Given the description of an element on the screen output the (x, y) to click on. 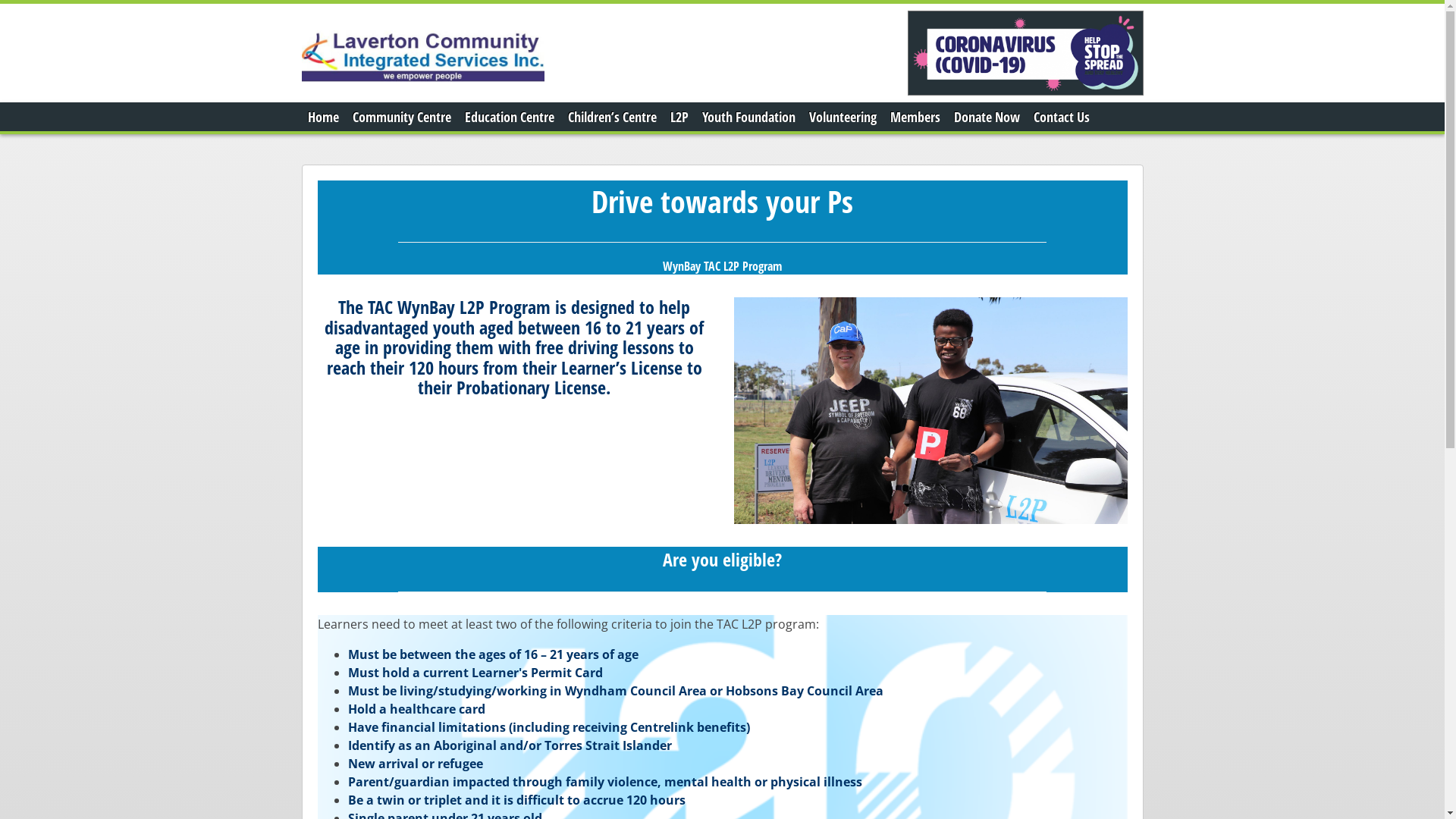
Youth Foundation Element type: text (748, 116)
Contact Us Element type: text (1060, 116)
Donate Now Element type: text (986, 116)
WynBay TAC L2P Program Element type: text (721, 265)
Home Element type: text (323, 116)
Members Element type: text (915, 116)
Education Centre Element type: text (508, 116)
Volunteering Element type: text (841, 116)
Community Centre Element type: text (400, 116)
L2P Element type: text (679, 116)
